Given the description of an element on the screen output the (x, y) to click on. 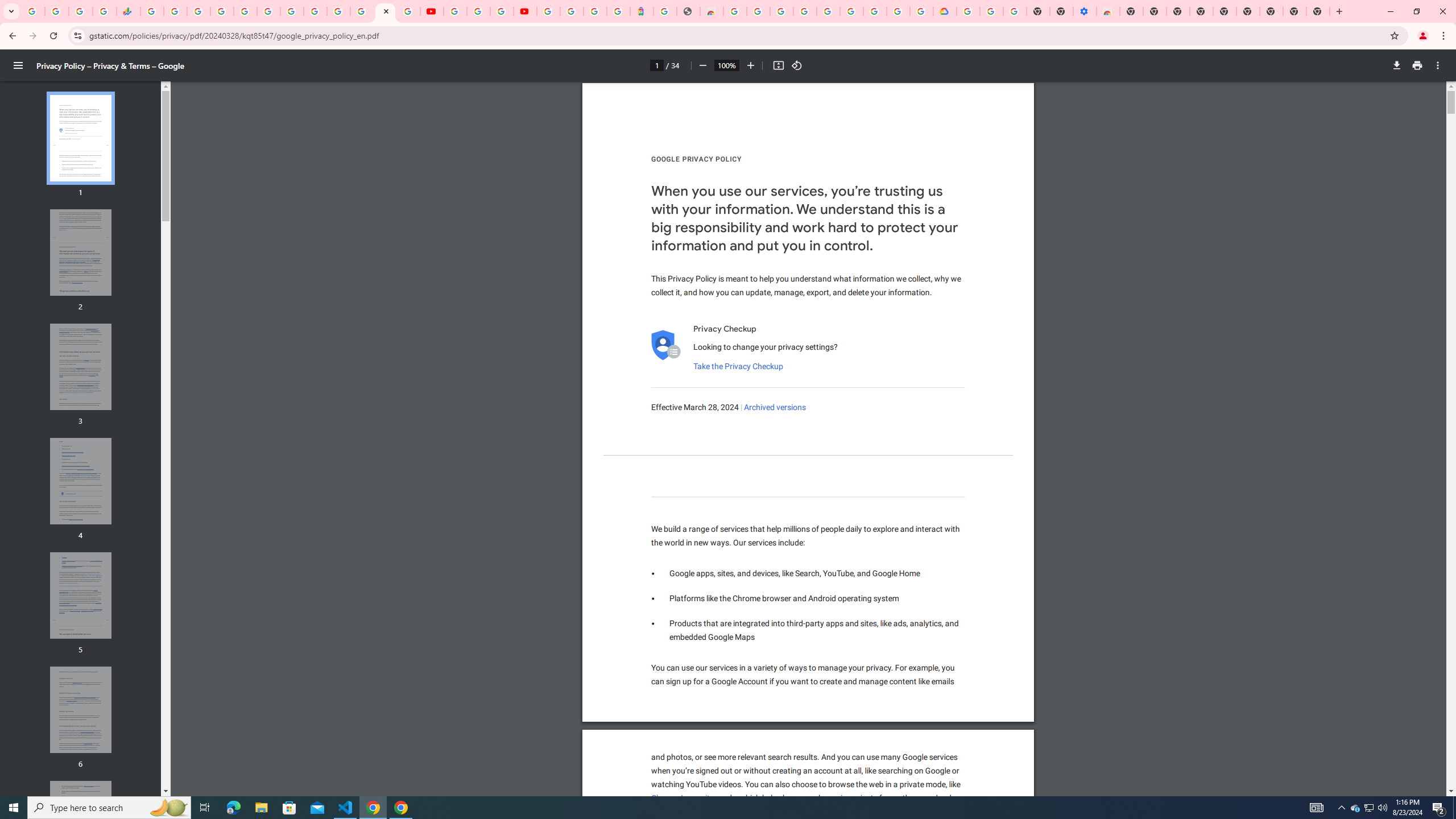
Zoom in (750, 65)
Menu (17, 65)
New Tab (1318, 11)
Google Account Help (992, 11)
YouTube (454, 11)
Atour Hotel - Google hotels (641, 11)
Thumbnail for page 1 (80, 138)
Browse the Google Chrome Community - Google Chrome Community (921, 11)
Sign in - Google Accounts (221, 11)
